Given the description of an element on the screen output the (x, y) to click on. 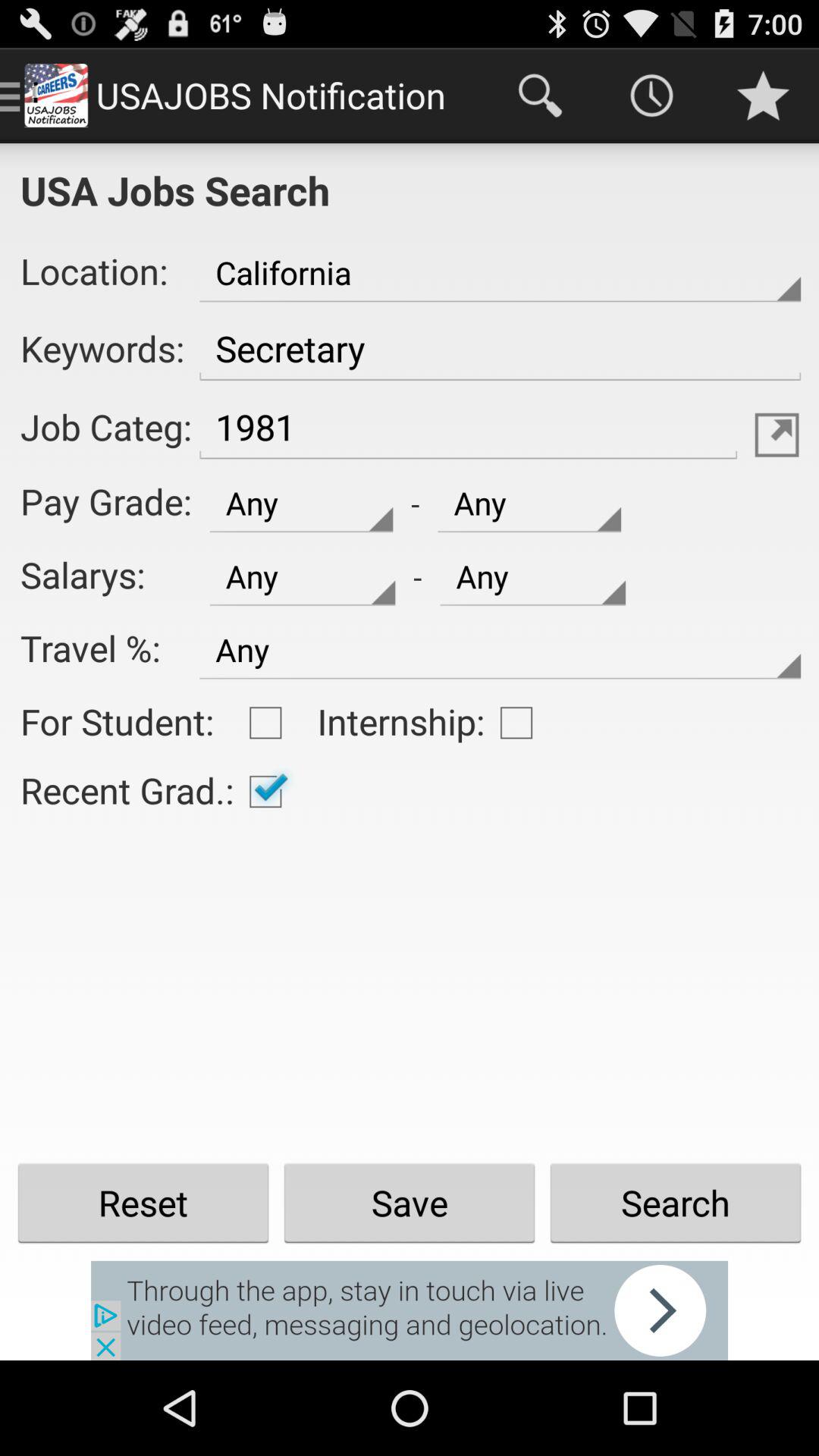
select this option (265, 722)
